Given the description of an element on the screen output the (x, y) to click on. 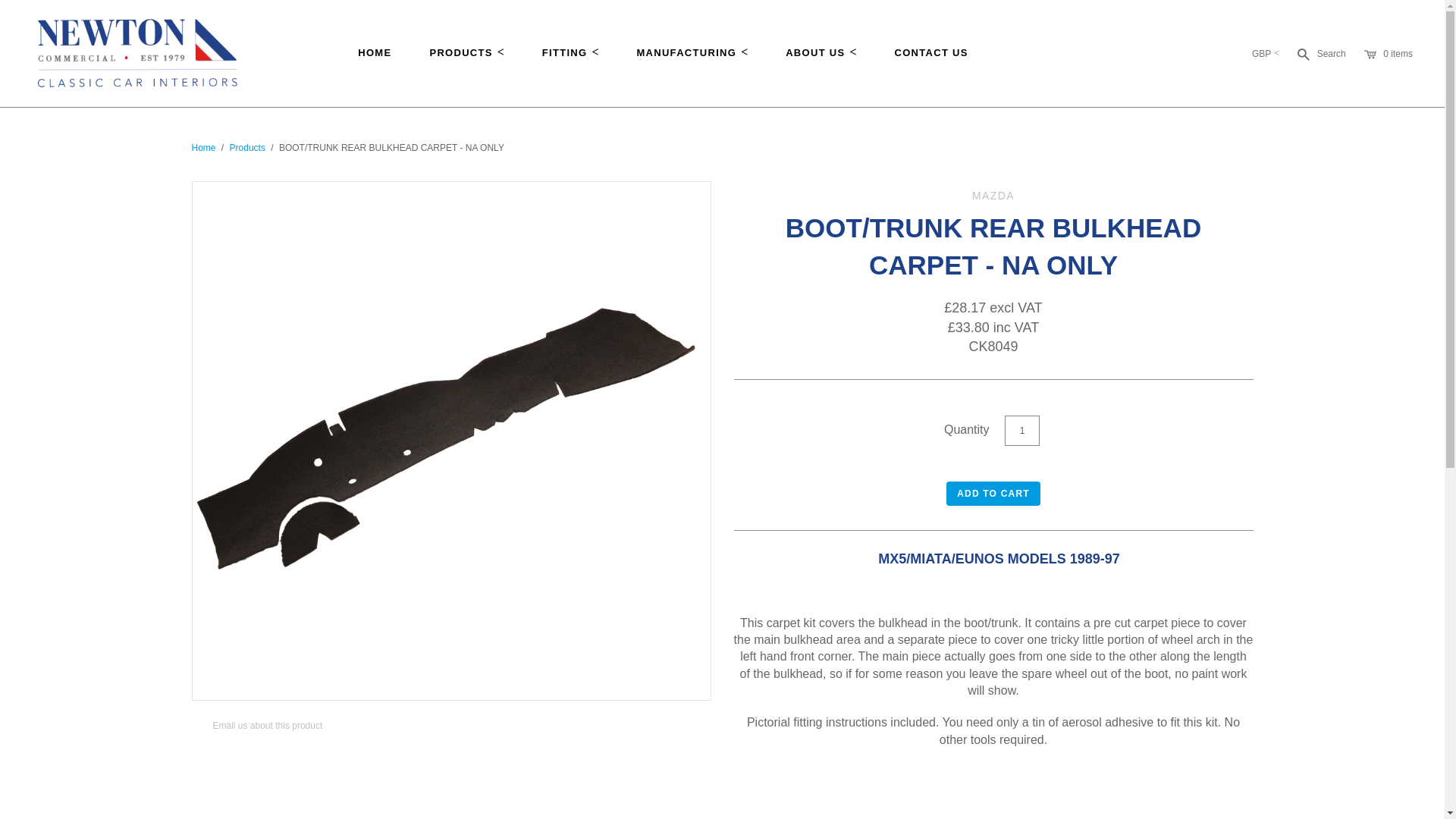
CONTACT US (931, 52)
Add to cart (993, 493)
Search (1321, 53)
HOME (374, 52)
1 (1021, 430)
